Given the description of an element on the screen output the (x, y) to click on. 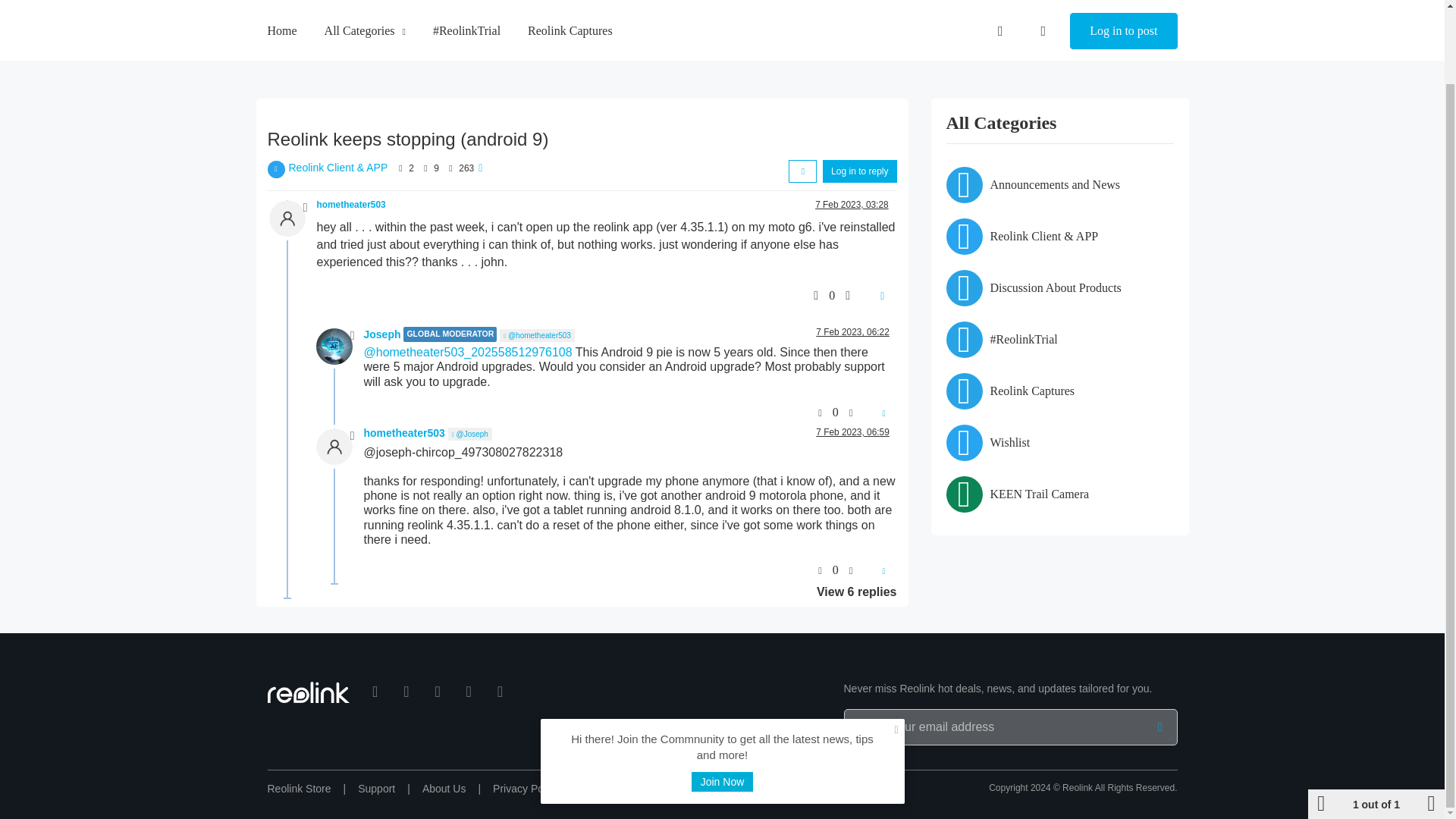
Views (451, 167)
Log in to reply (859, 170)
Log in to post (1123, 5)
Posts (425, 167)
263 (466, 167)
Posters (400, 167)
hometheater503 (351, 204)
7 Feb 2023, 03:28 (851, 204)
7 Feb 2023, 03:28 (851, 204)
